Given the description of an element on the screen output the (x, y) to click on. 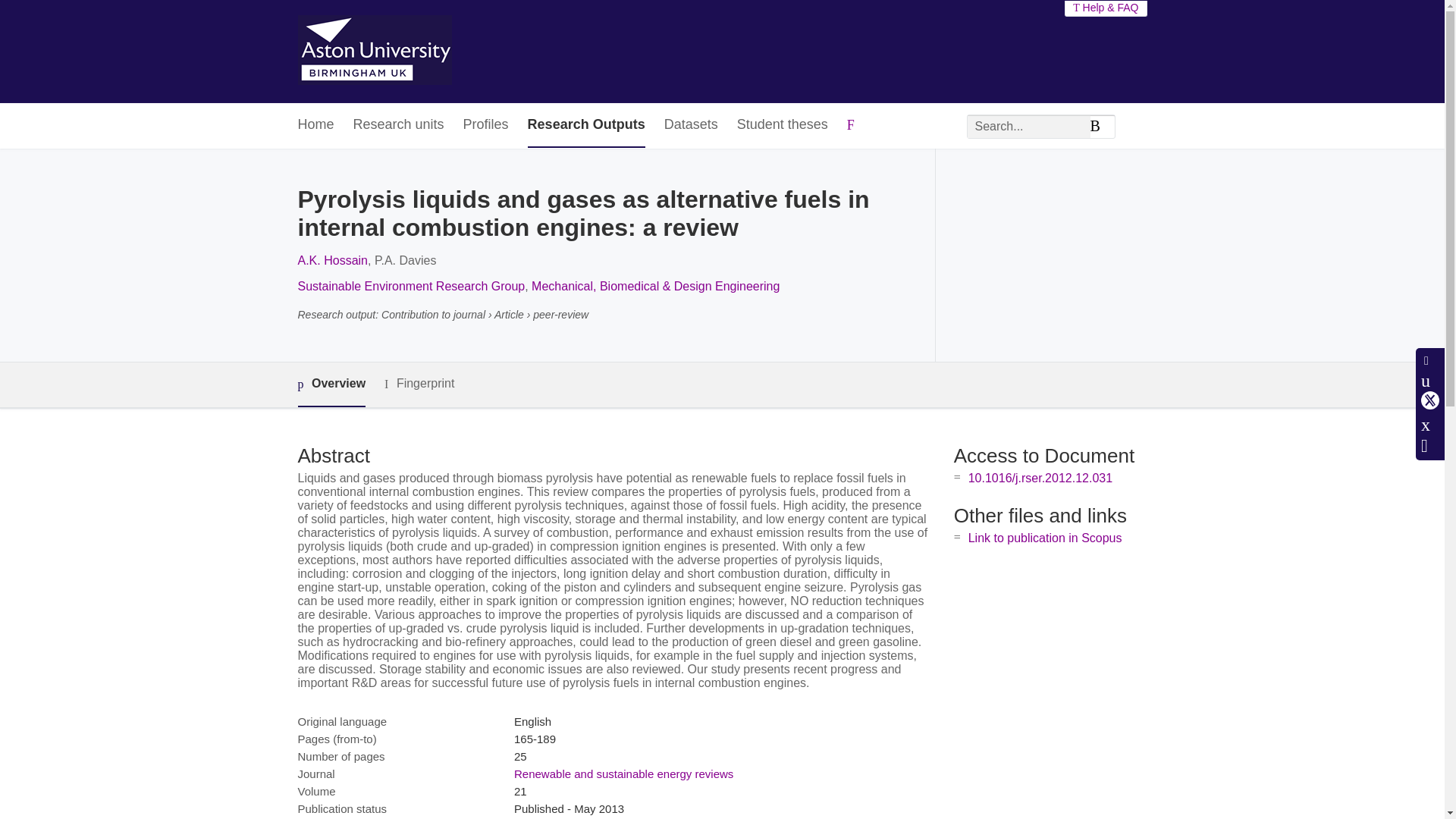
Overview (331, 384)
Datasets (690, 125)
A.K. Hossain (331, 259)
Renewable and sustainable energy reviews (623, 773)
Sustainable Environment Research Group (410, 286)
Profiles (485, 125)
Link to publication in Scopus (1045, 537)
Student theses (782, 125)
Aston Research Explorer Home (374, 51)
